Given the description of an element on the screen output the (x, y) to click on. 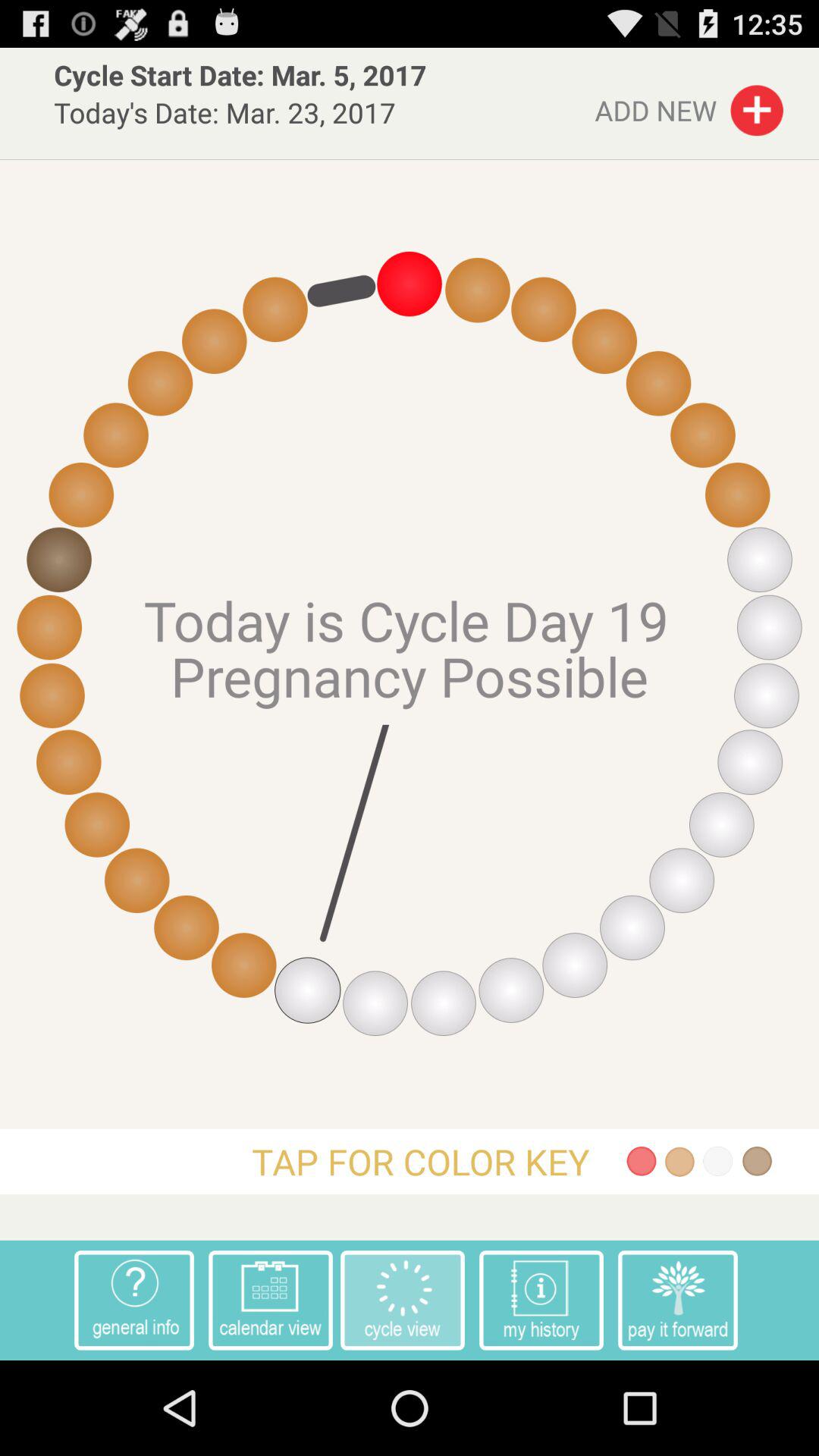
tap the app to the left of (541, 1300)
